Given the description of an element on the screen output the (x, y) to click on. 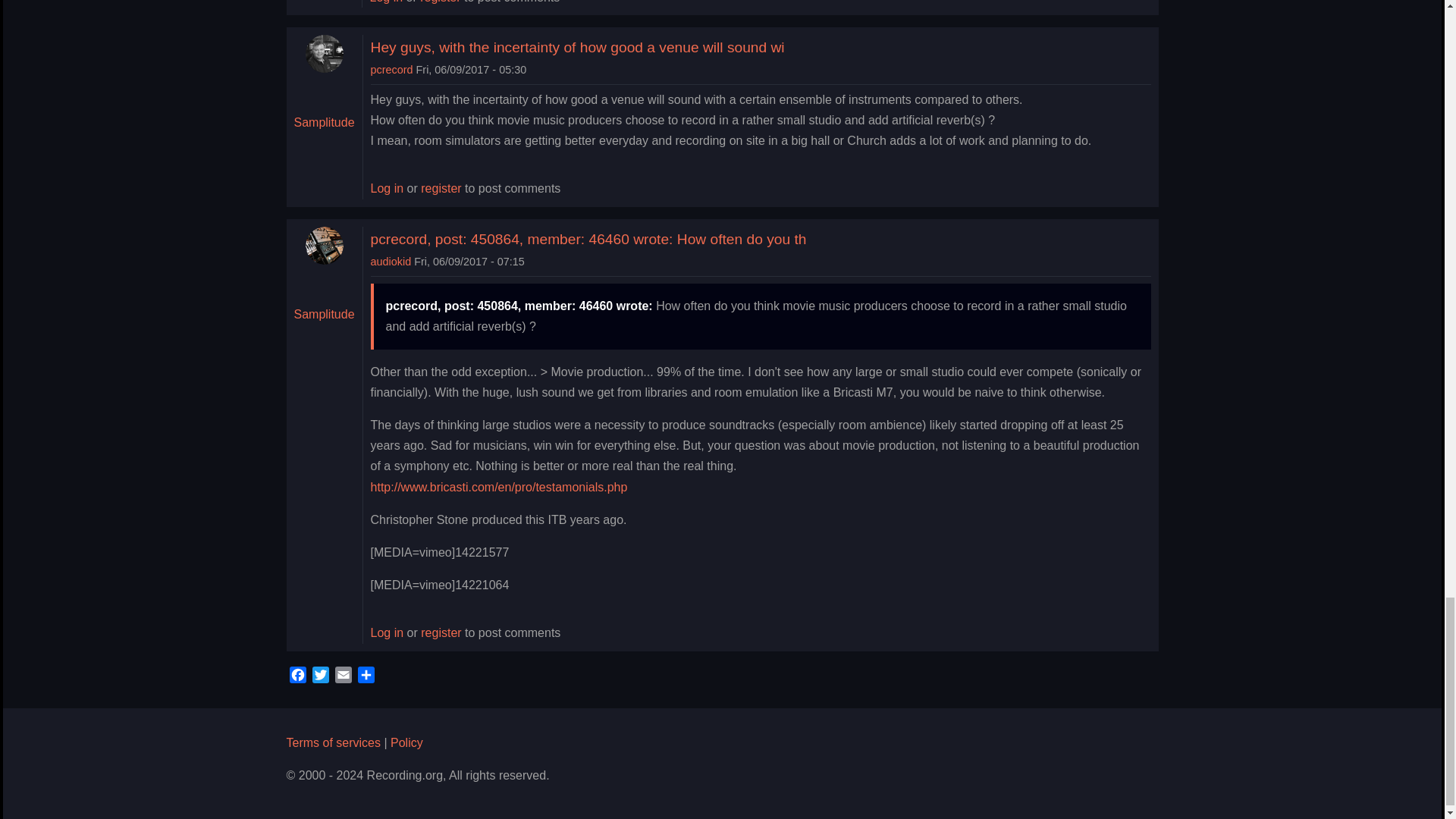
View user profile. (391, 261)
Log in (386, 3)
View user profile. (392, 69)
